Given the description of an element on the screen output the (x, y) to click on. 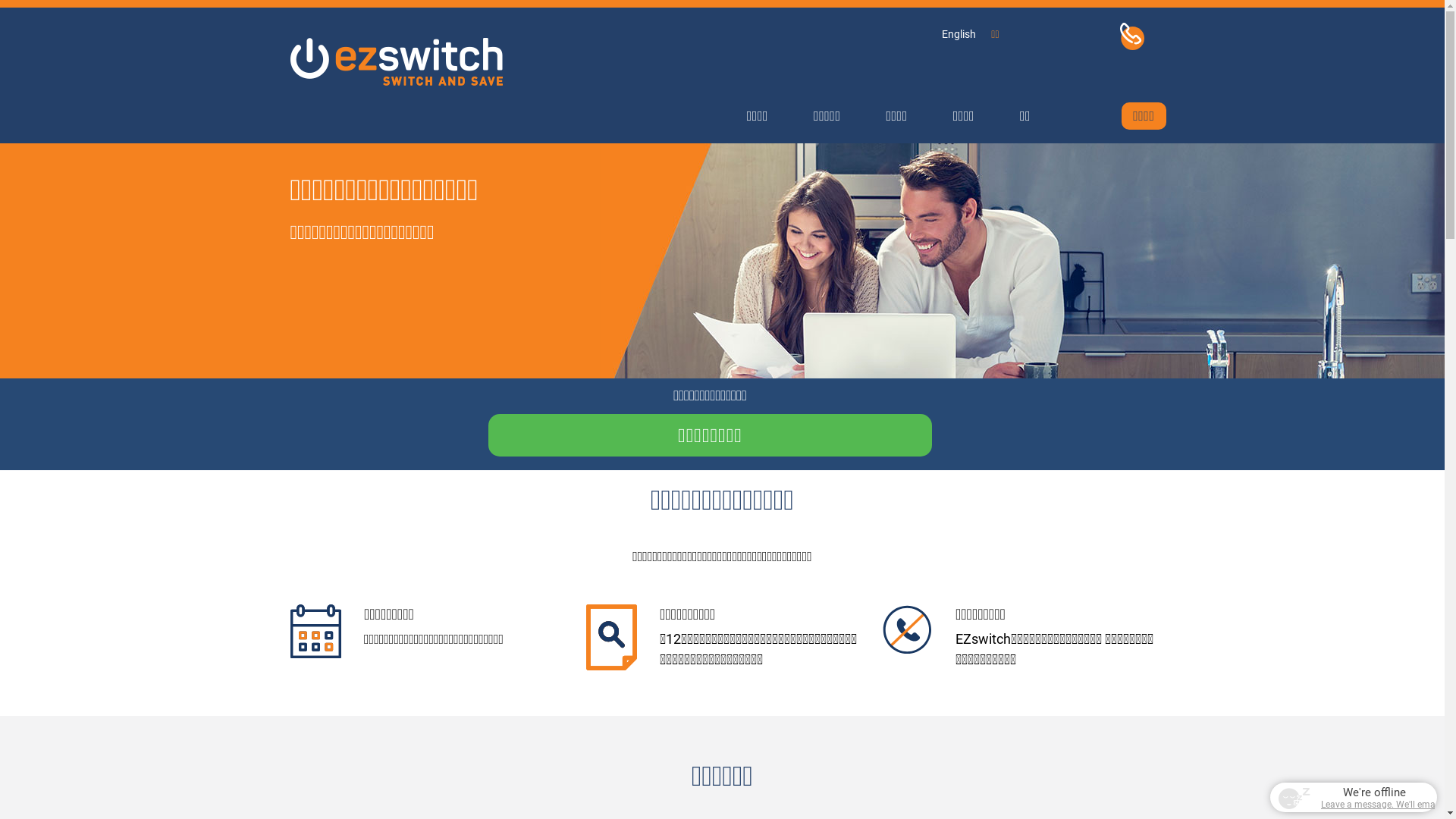
English Element type: text (958, 34)
